Given the description of an element on the screen output the (x, y) to click on. 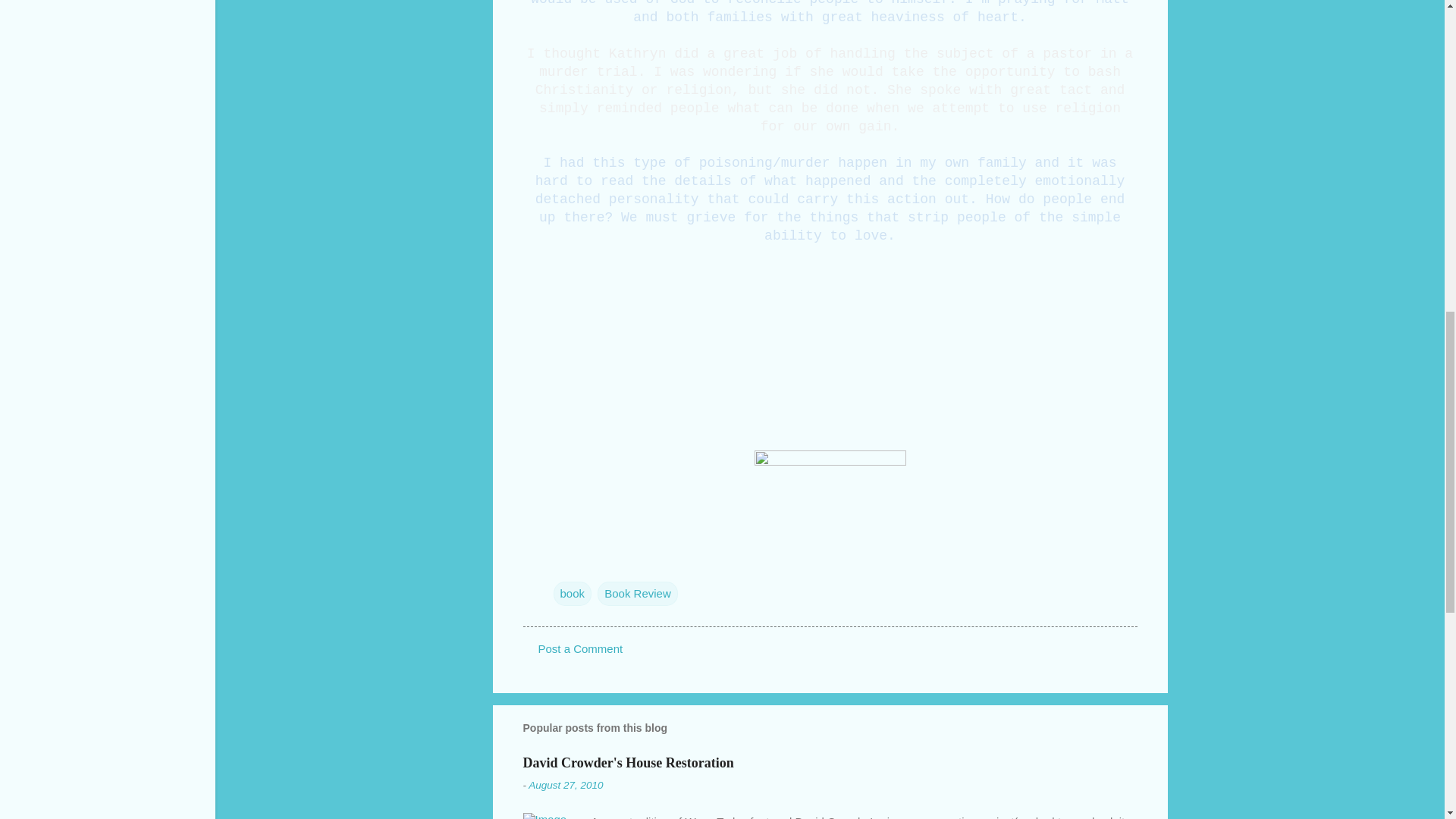
Book Review (637, 592)
David Crowder's House Restoration (627, 762)
Post a Comment (580, 648)
August 27, 2010 (565, 785)
book (572, 592)
Email Post (562, 562)
permanent link (565, 785)
